Given the description of an element on the screen output the (x, y) to click on. 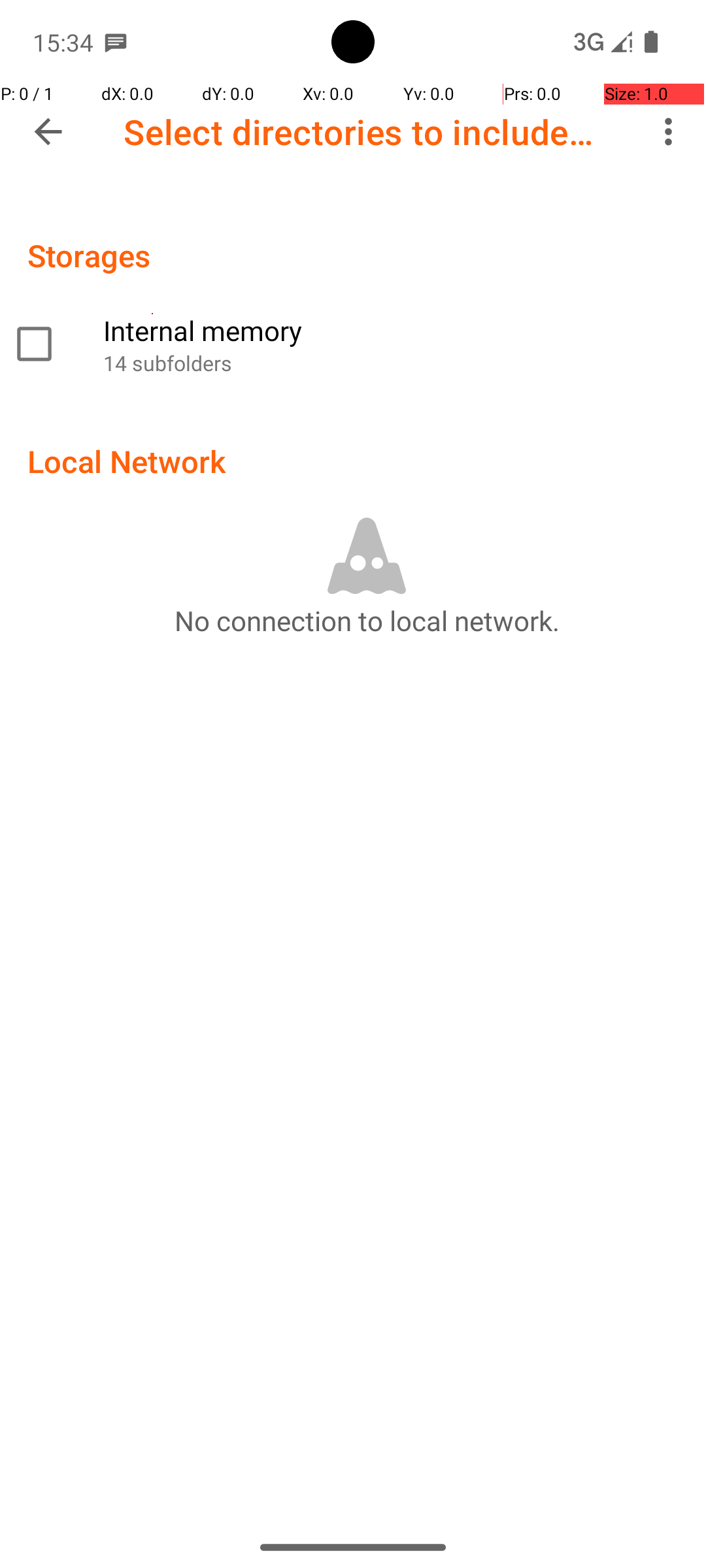
Select directories to include in the media library Element type: android.widget.TextView (363, 131)
Storages Element type: android.widget.TextView (88, 254)
Local Network Element type: android.widget.TextView (126, 460)
No connection to local network. Element type: android.widget.TextView (366, 619)
Folder: Internal memory Element type: android.view.ViewGroup (353, 344)
14 subfolders Element type: android.widget.TextView (397, 362)
